Given the description of an element on the screen output the (x, y) to click on. 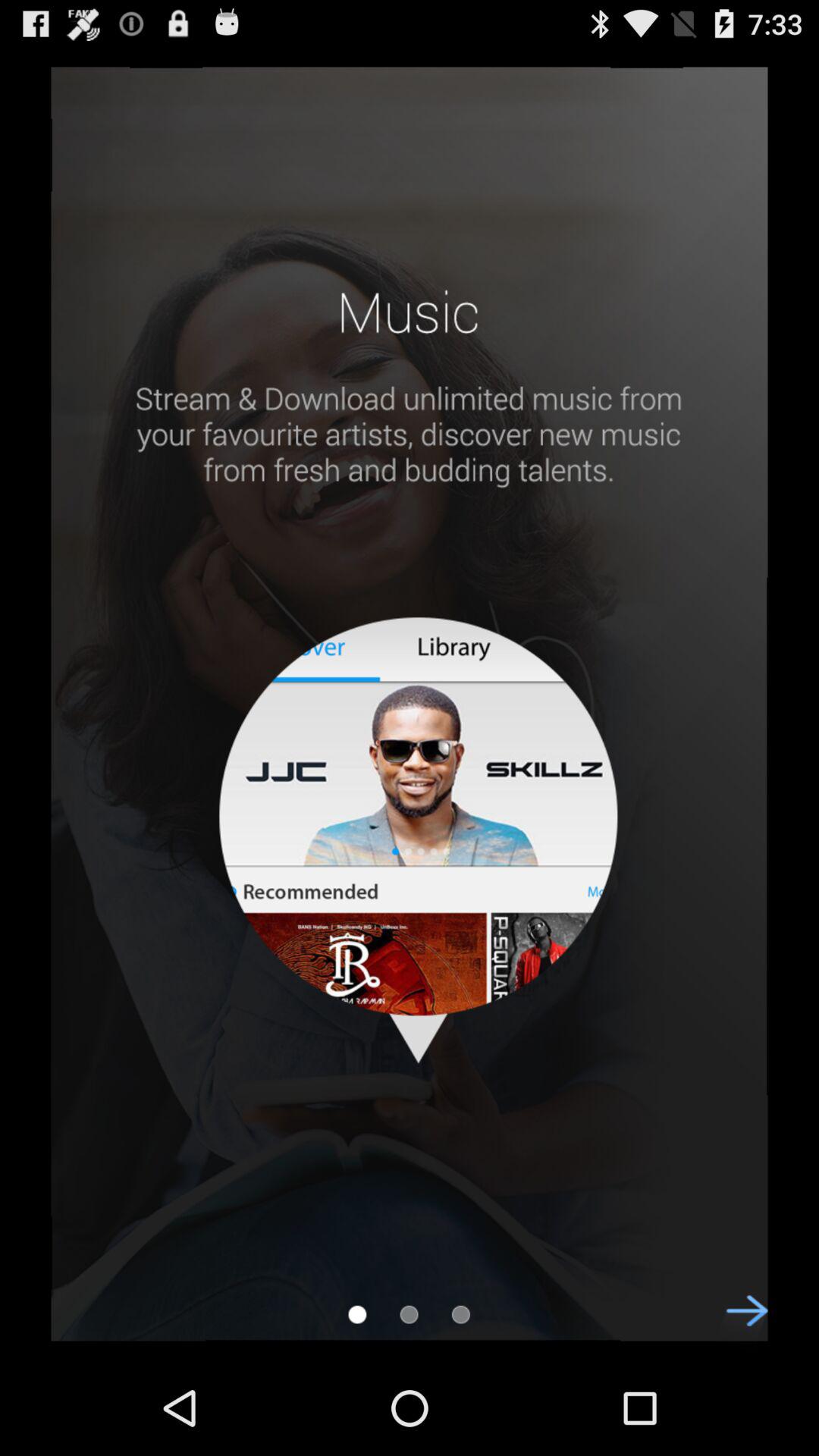
go to first page (357, 1314)
